Given the description of an element on the screen output the (x, y) to click on. 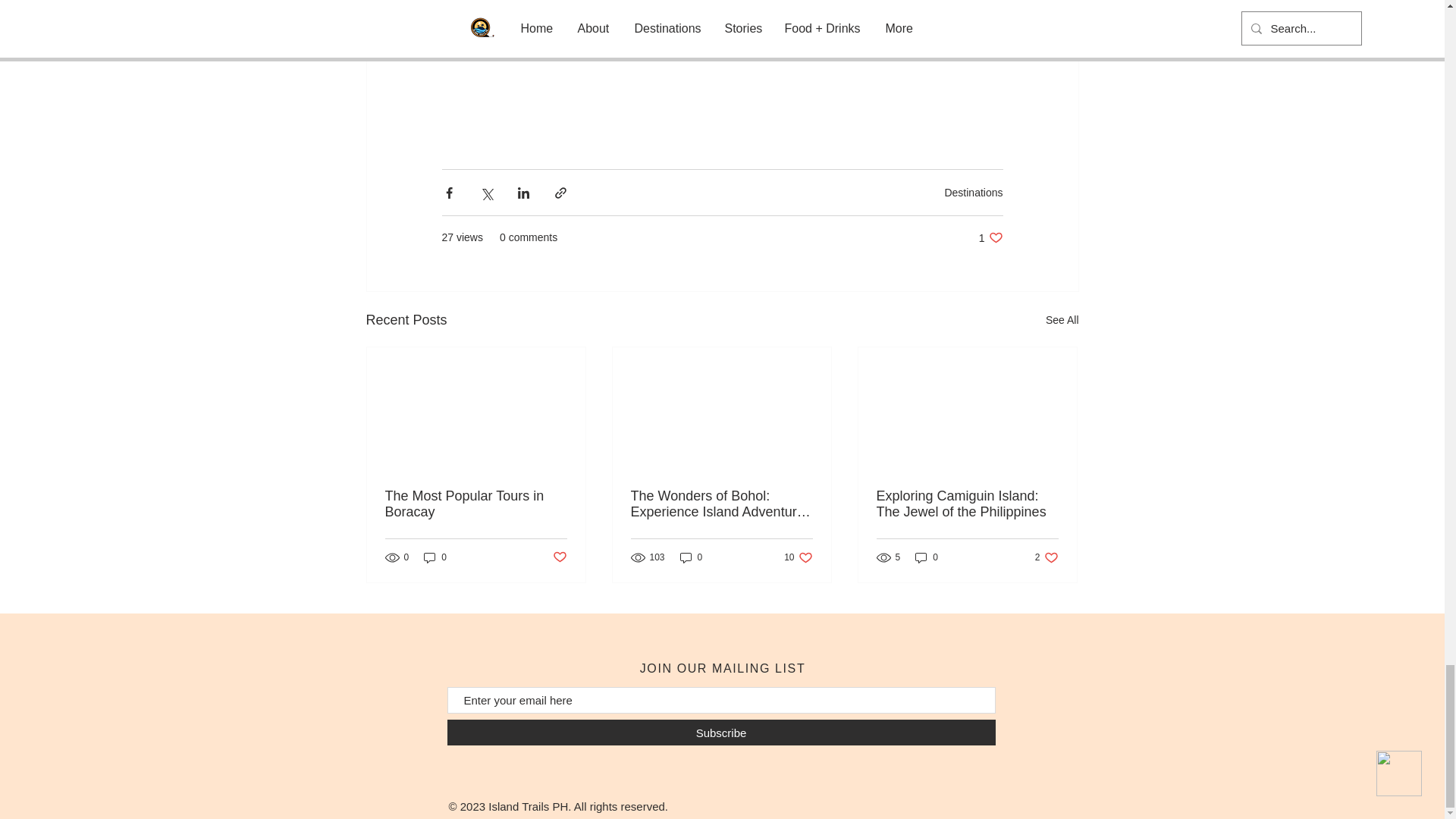
0 (691, 557)
0 (926, 557)
Subscribe (720, 732)
Exploring Camiguin Island: The Jewel of the Philippines (967, 504)
The Most Popular Tours in Boracay (1046, 557)
Destinations (476, 504)
